Given the description of an element on the screen output the (x, y) to click on. 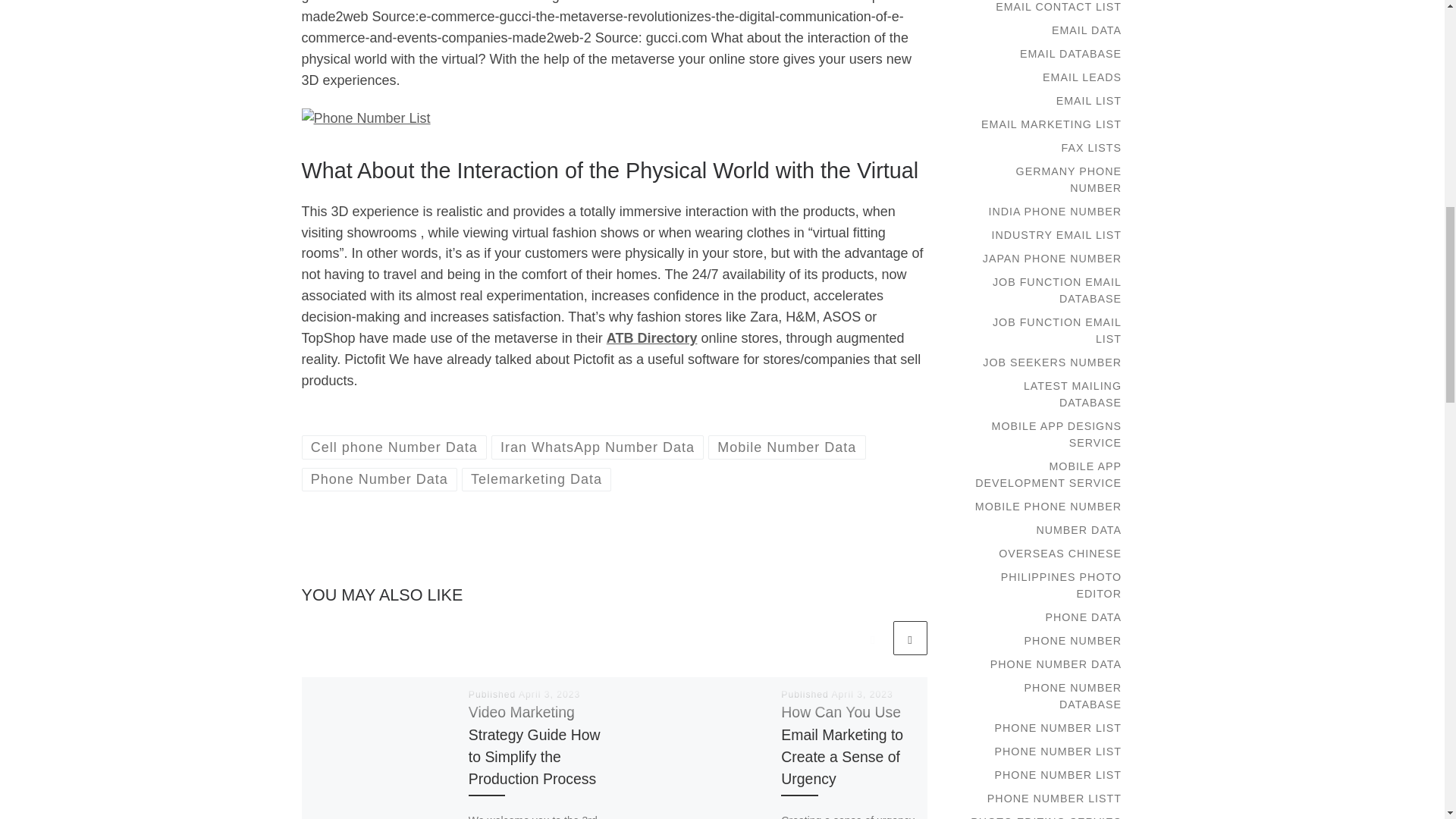
View all posts in Cell phone Number Data (394, 446)
ATB Directory (652, 337)
View all posts in Telemarketing Data (536, 479)
April 3, 2023 (861, 694)
Cell phone Number Data (394, 446)
Iran WhatsApp Number Data (598, 446)
How Can You Use Email Marketing to Create a Sense of Urgency (841, 744)
View all posts in Mobile Number Data (786, 446)
Previous related articles (872, 637)
